Given the description of an element on the screen output the (x, y) to click on. 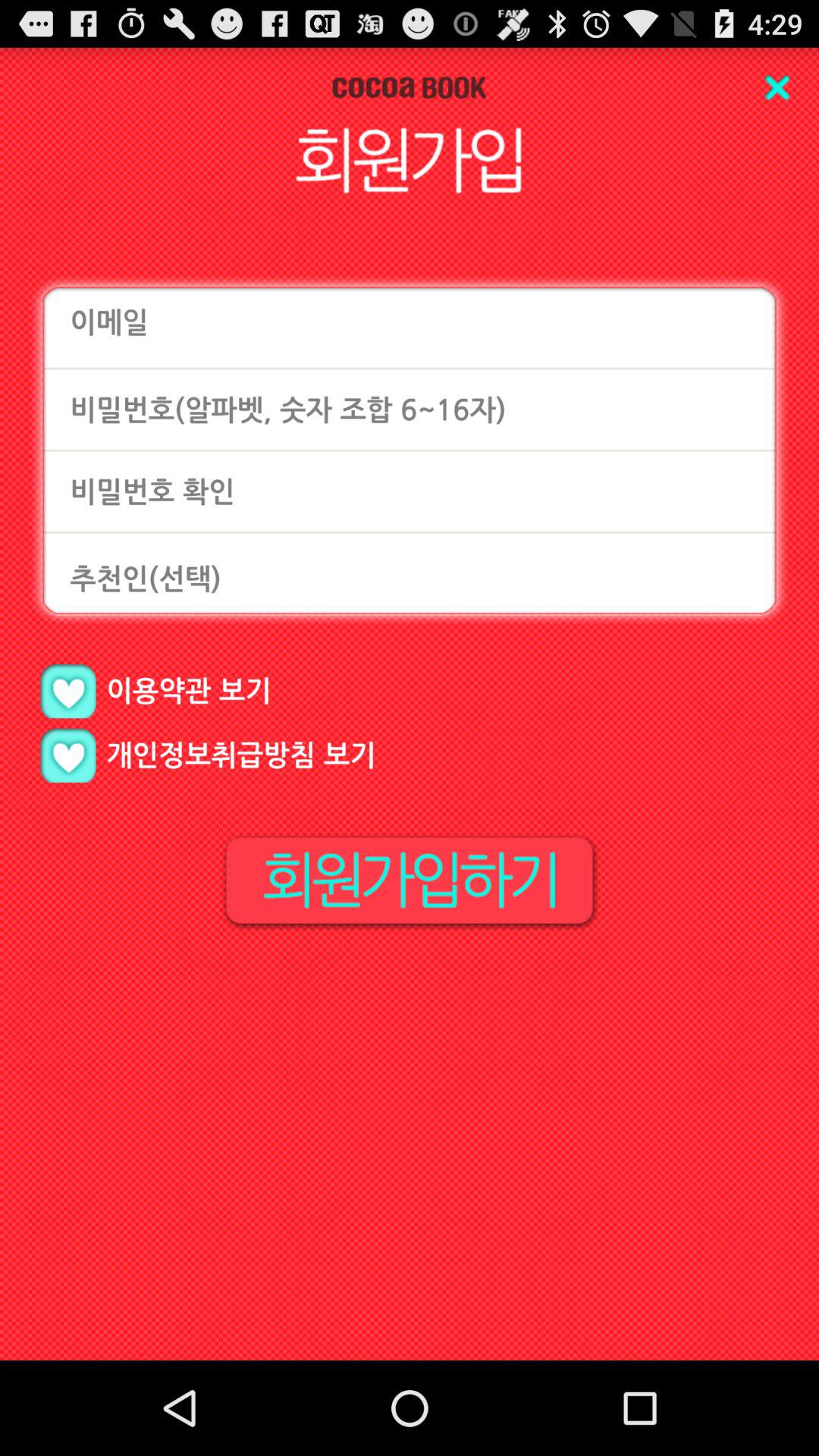
like option (68, 755)
